Given the description of an element on the screen output the (x, y) to click on. 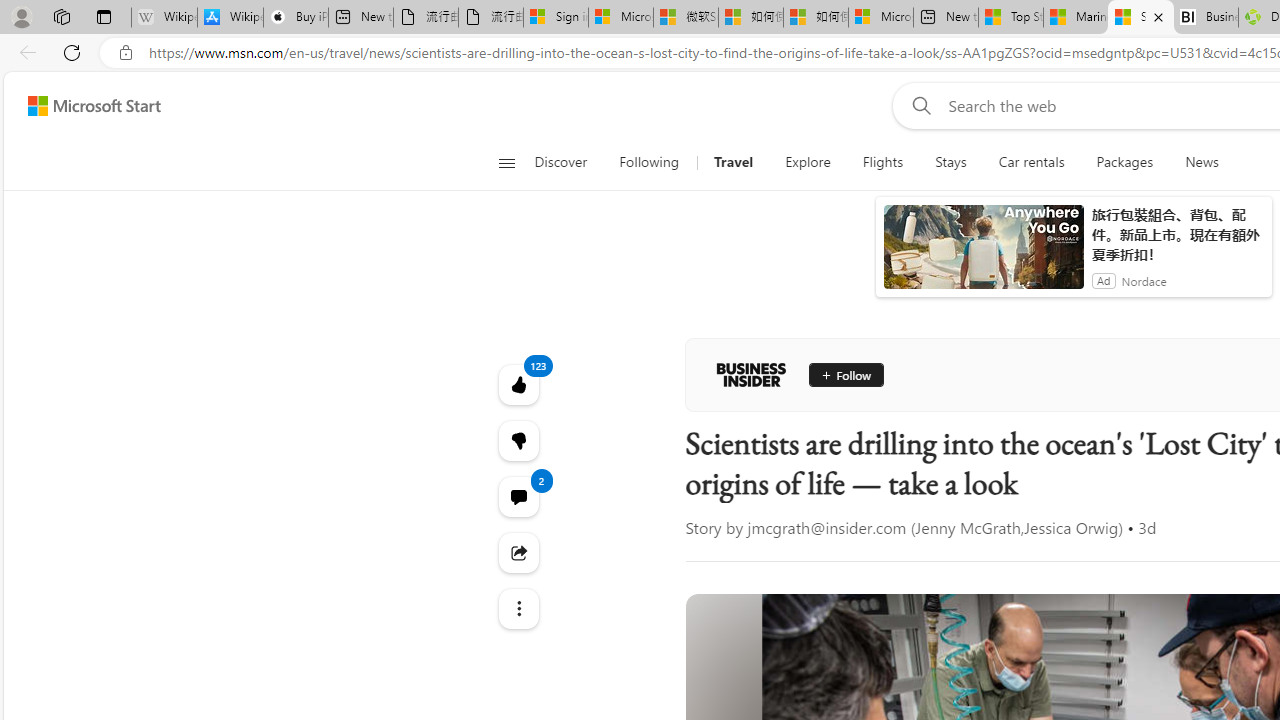
Packages (1124, 162)
Flights (882, 162)
Class: at-item (517, 609)
Explore (807, 162)
Open navigation menu (506, 162)
Flights (883, 162)
Business Insider (751, 374)
Microsoft Services Agreement (620, 17)
View comments 2 Comment (517, 496)
